Given the description of an element on the screen output the (x, y) to click on. 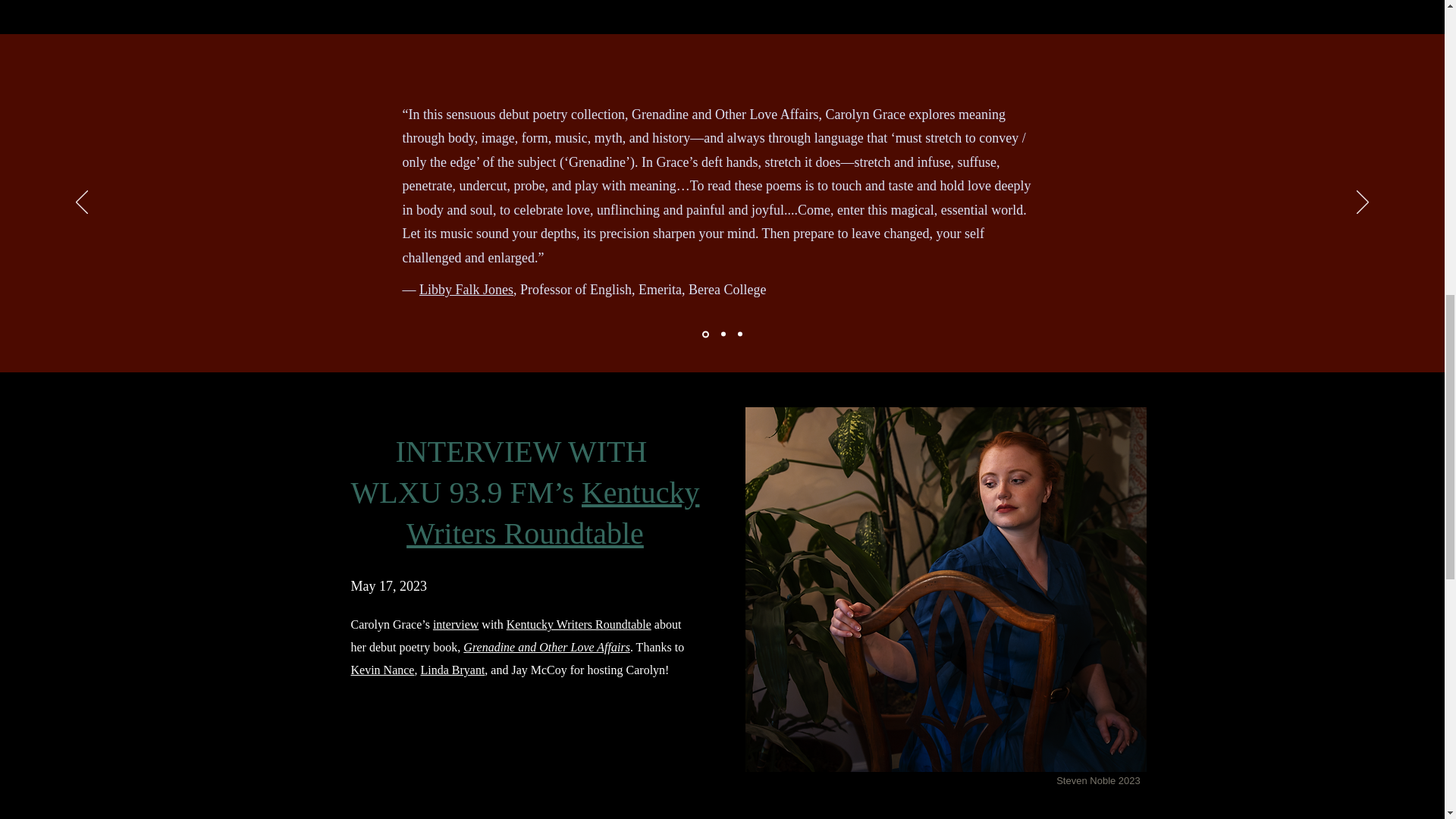
Linda Bryant (452, 669)
Libby Falk Jones (466, 289)
Kentucky Writers Roundtable (578, 624)
Grenadine and Other Love Affairs (546, 646)
Kentucky Writers Roundtable (552, 512)
interview (455, 624)
Kevin Nance (381, 669)
